Given the description of an element on the screen output the (x, y) to click on. 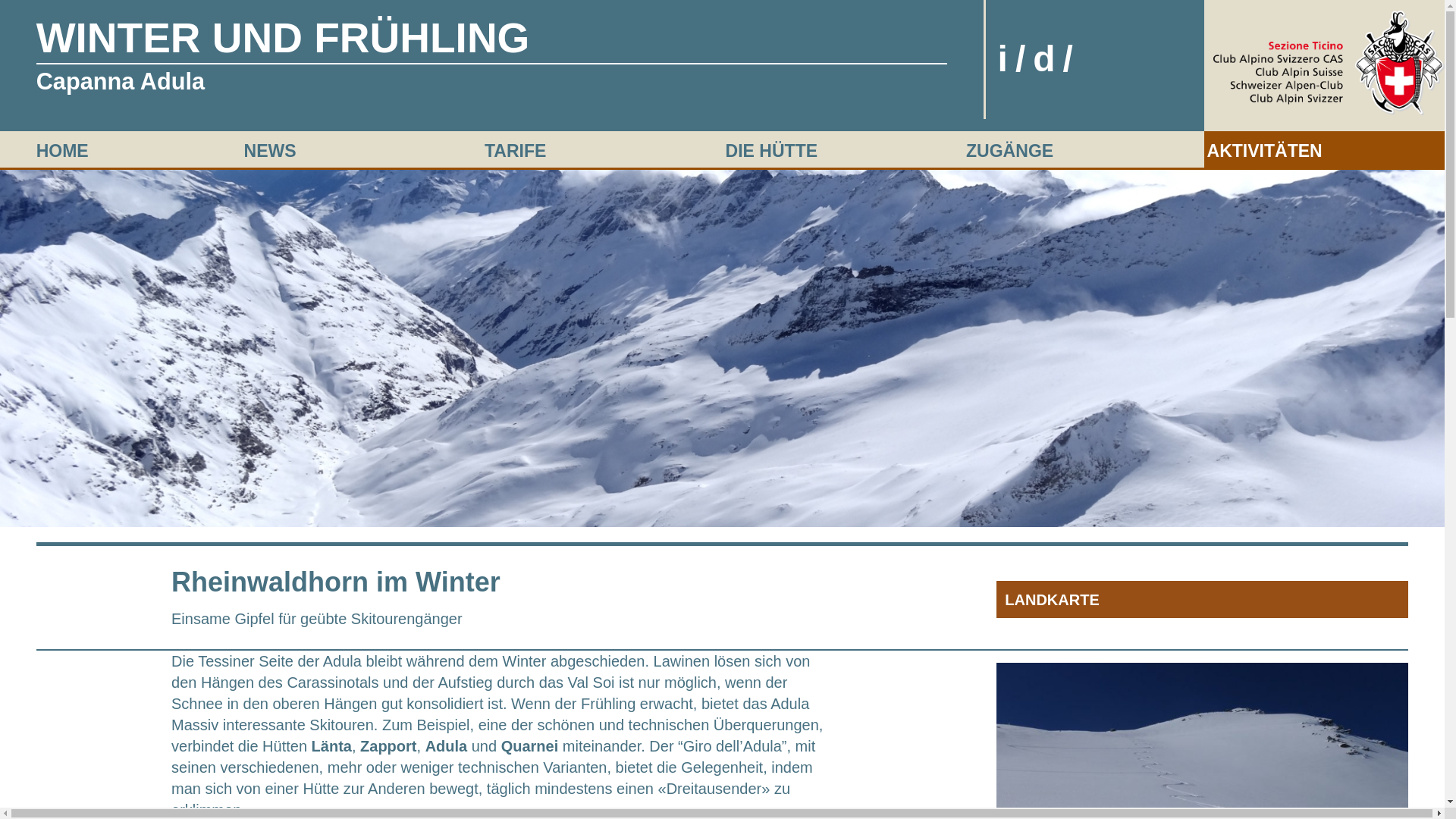
d/ Element type: text (1056, 58)
NEWS Element type: text (270, 150)
TARIFE Element type: text (515, 150)
Capanna Adula Element type: text (120, 88)
i/ Element type: text (1015, 58)
HOME Element type: text (62, 150)
LANDKARTE Element type: text (1202, 599)
